Given the description of an element on the screen output the (x, y) to click on. 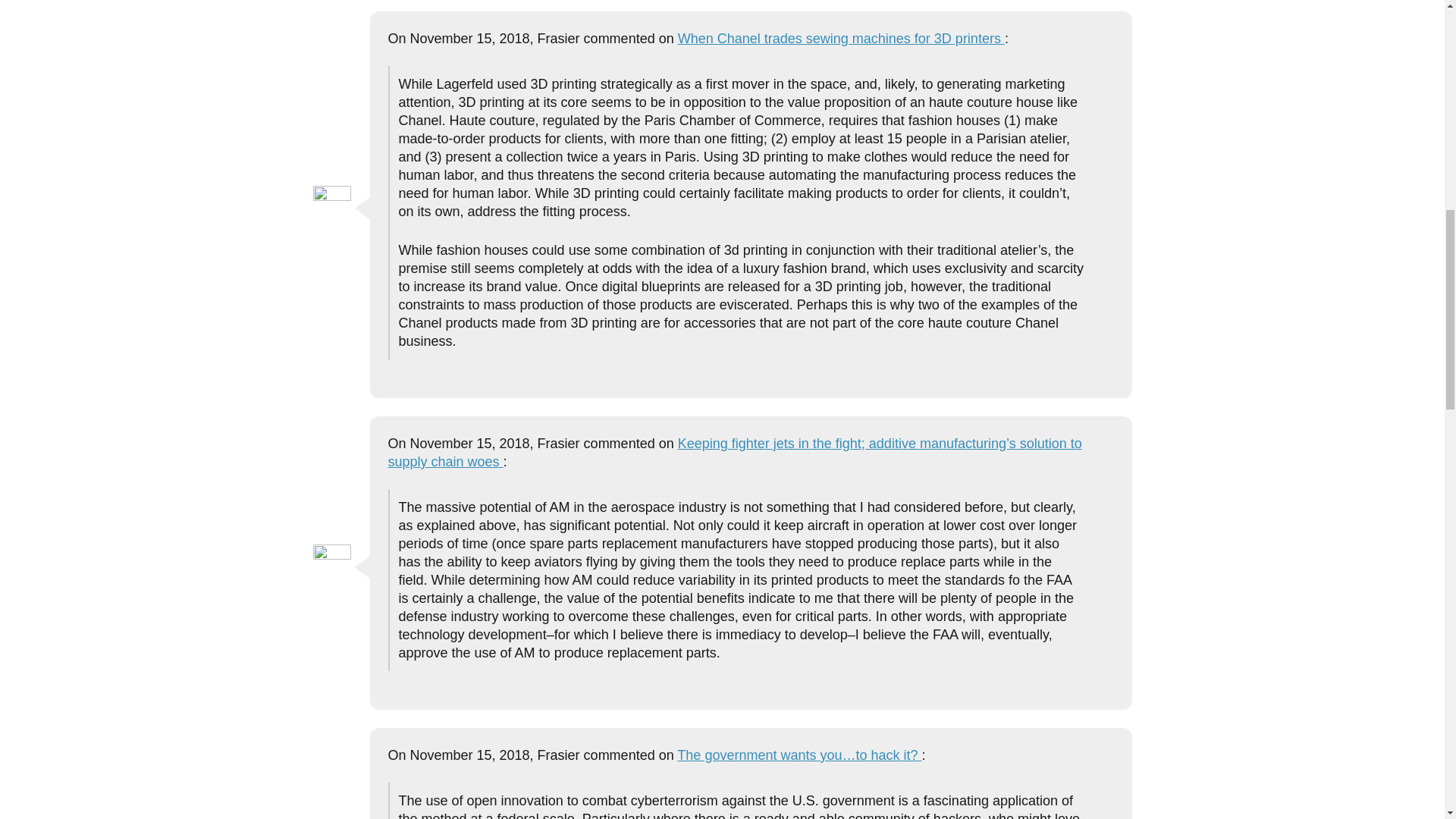
When Chanel trades sewing machines for 3D printers (841, 38)
